Given the description of an element on the screen output the (x, y) to click on. 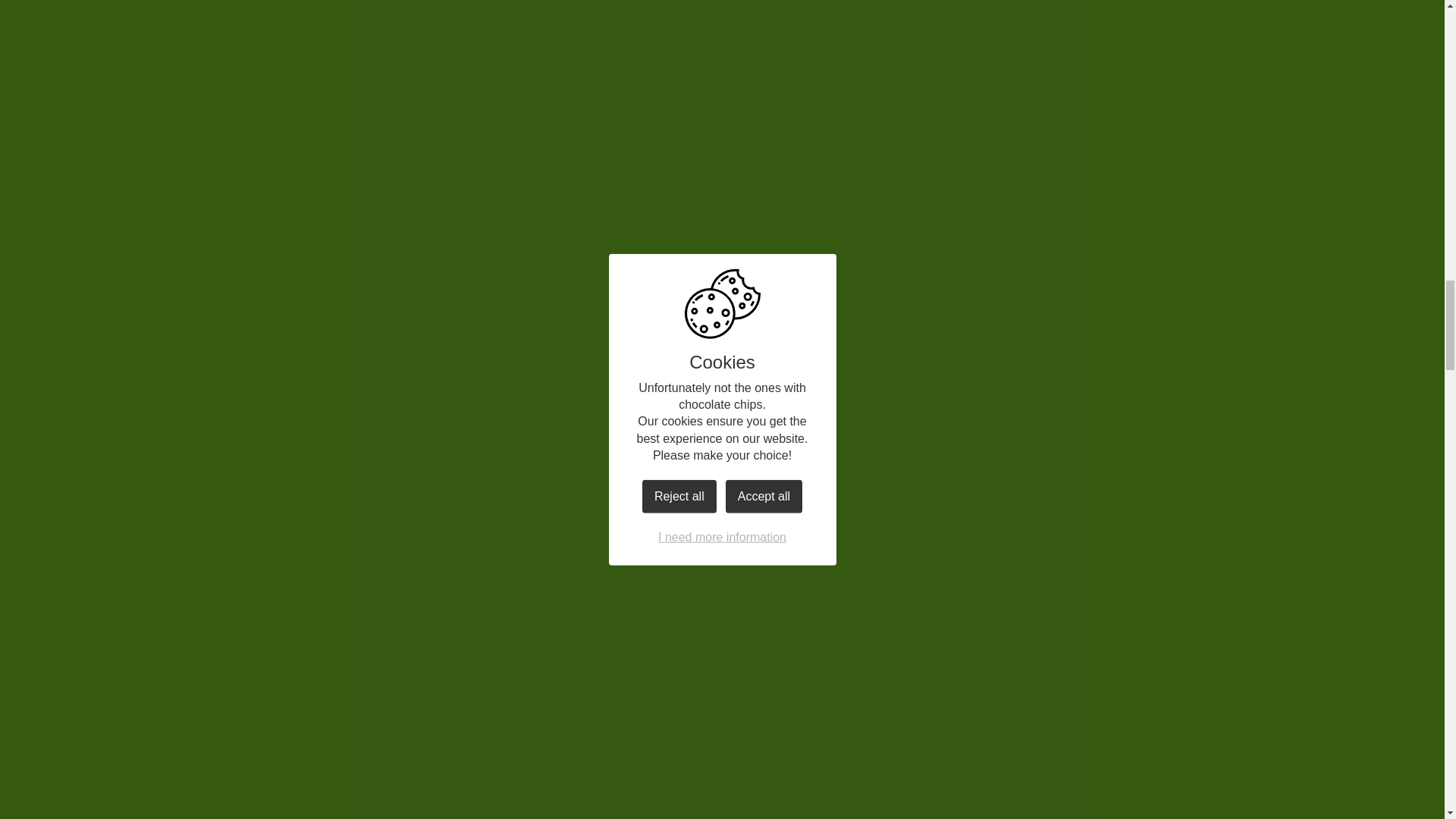
View large version of image (623, 56)
View large version of image (623, 465)
View large version of image (926, 235)
View large version of image (926, 56)
View large version of image (623, 235)
